Given the description of an element on the screen output the (x, y) to click on. 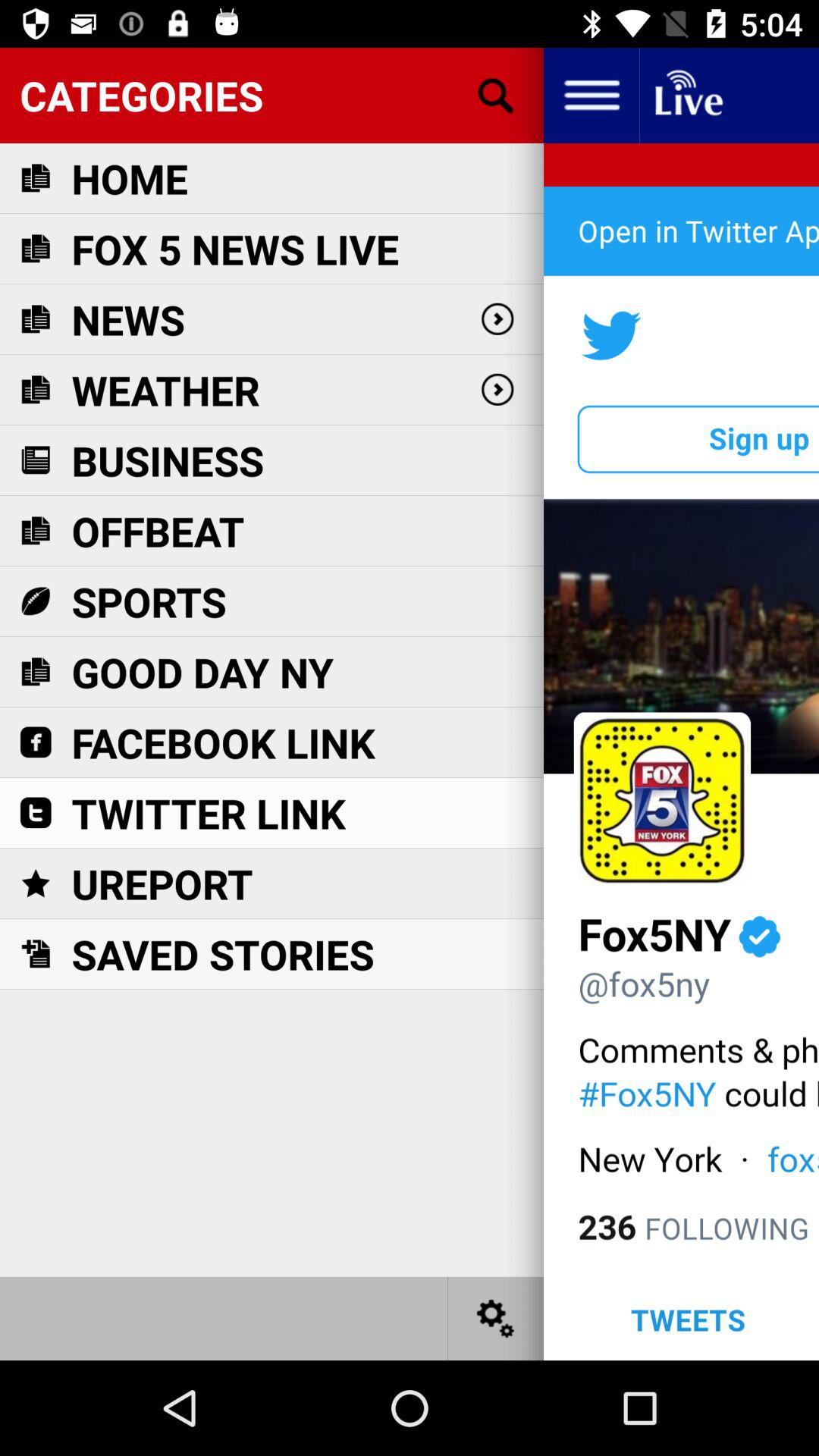
open menu tabs (591, 95)
